Given the description of an element on the screen output the (x, y) to click on. 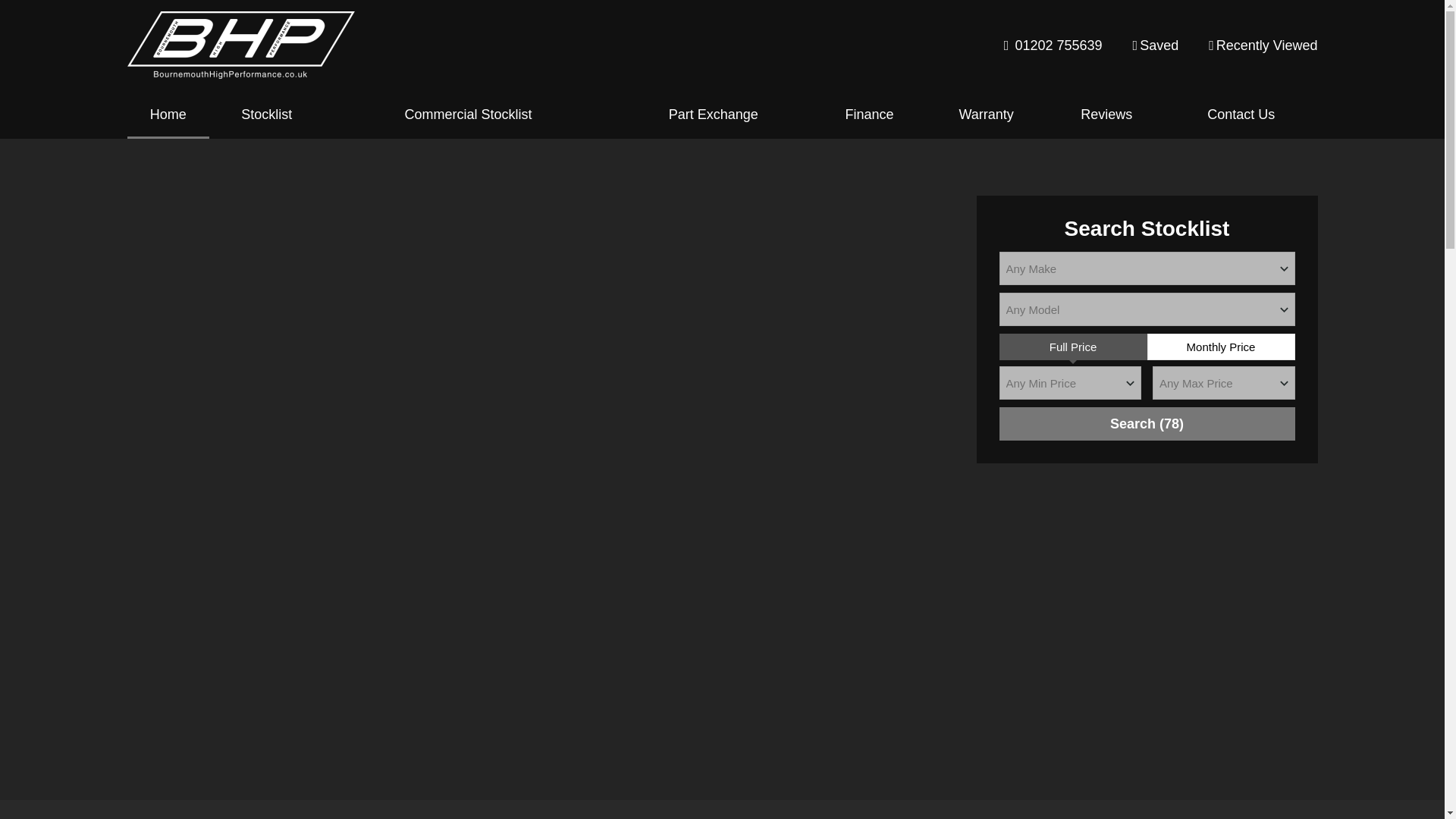
Reviews (1106, 114)
01202 755639 (1053, 45)
Part Exchange (712, 114)
Stocklist (266, 114)
Home (168, 114)
Recently Viewed (1262, 45)
Contact Us (1240, 114)
Saved (1155, 45)
Finance (868, 114)
Commercial Stocklist (468, 114)
Warranty (986, 114)
